Given the description of an element on the screen output the (x, y) to click on. 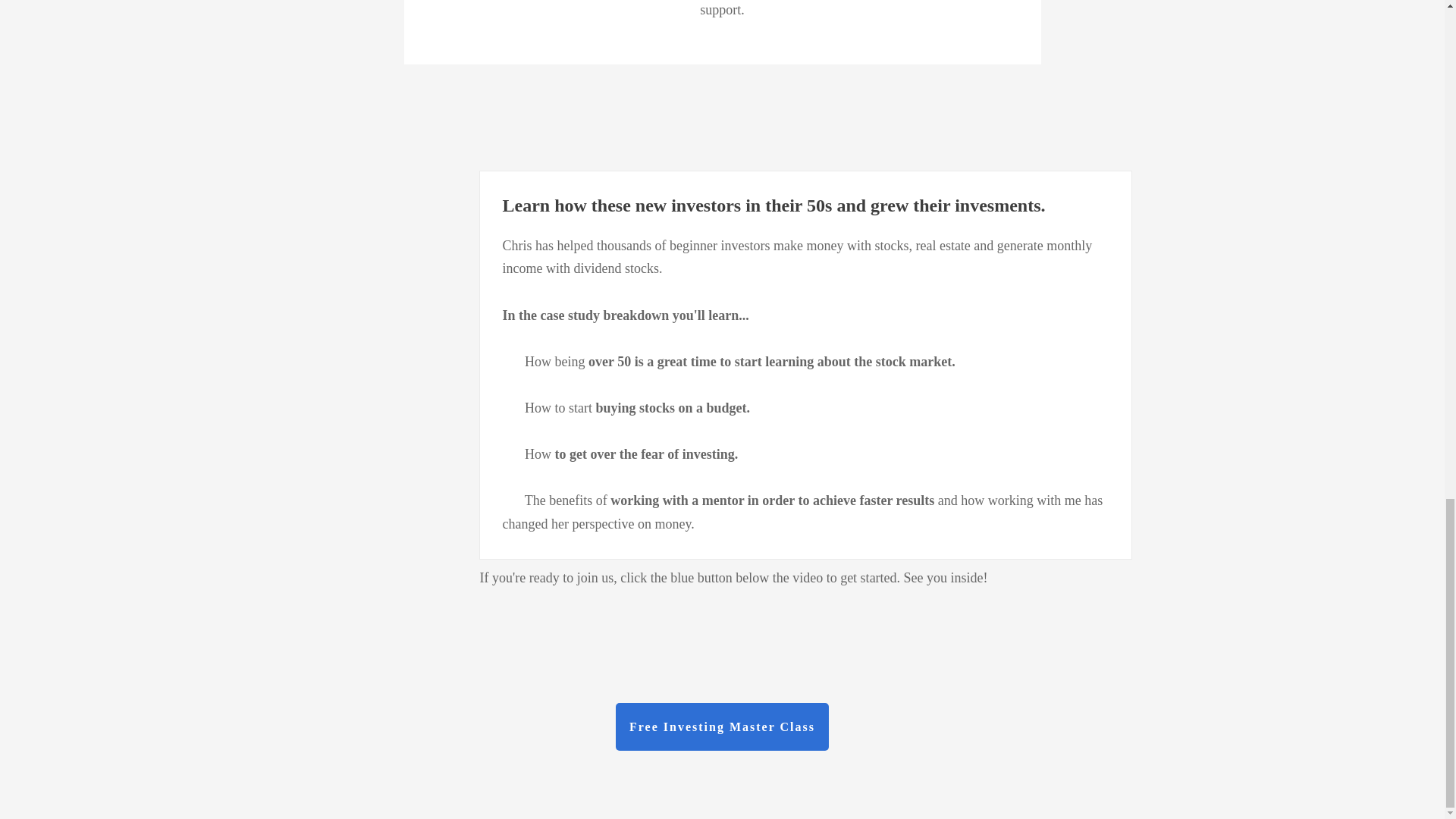
Free Investing Master Class (721, 726)
